Given the description of an element on the screen output the (x, y) to click on. 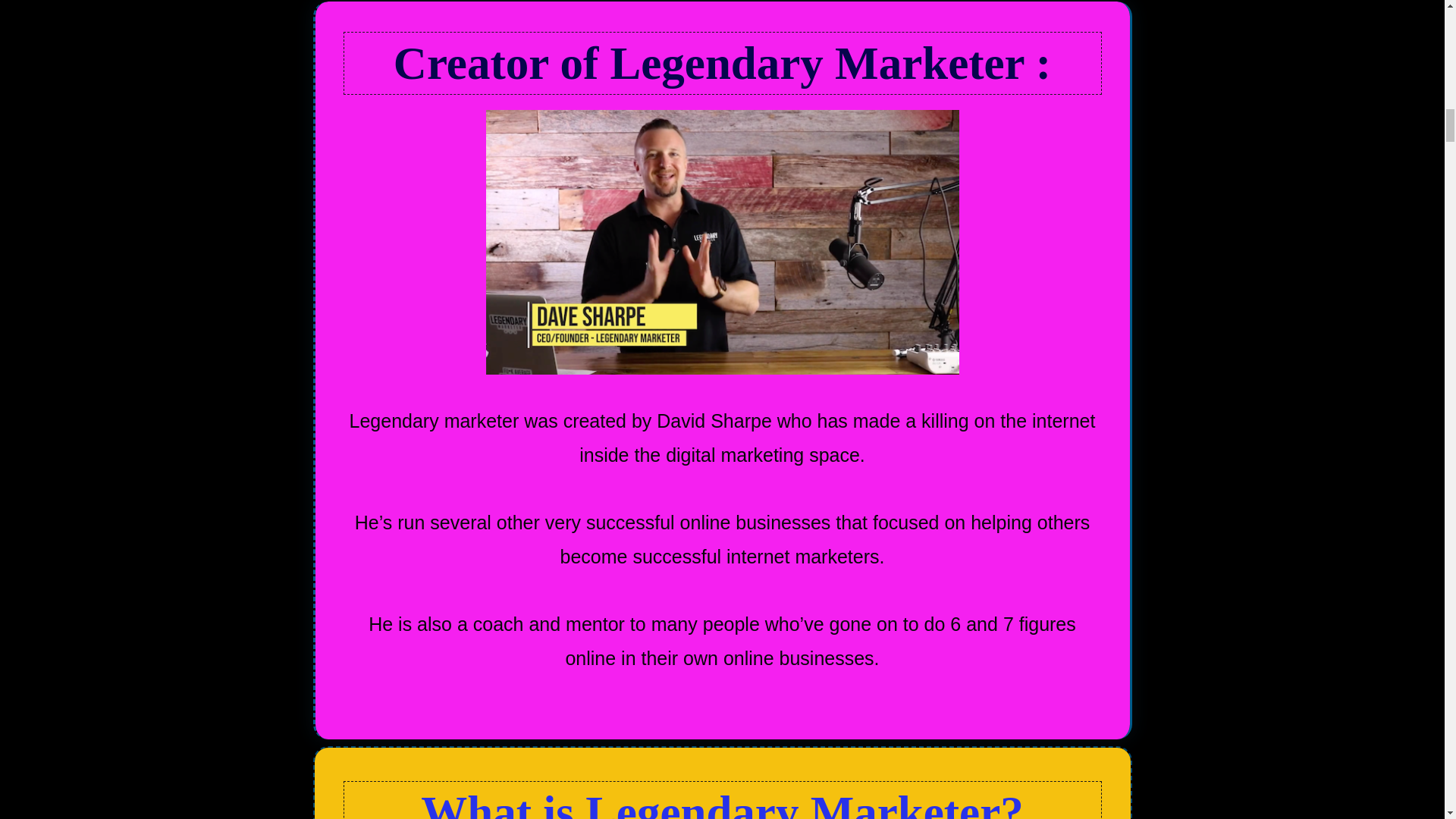
David-Sharpe (721, 241)
